Given the description of an element on the screen output the (x, y) to click on. 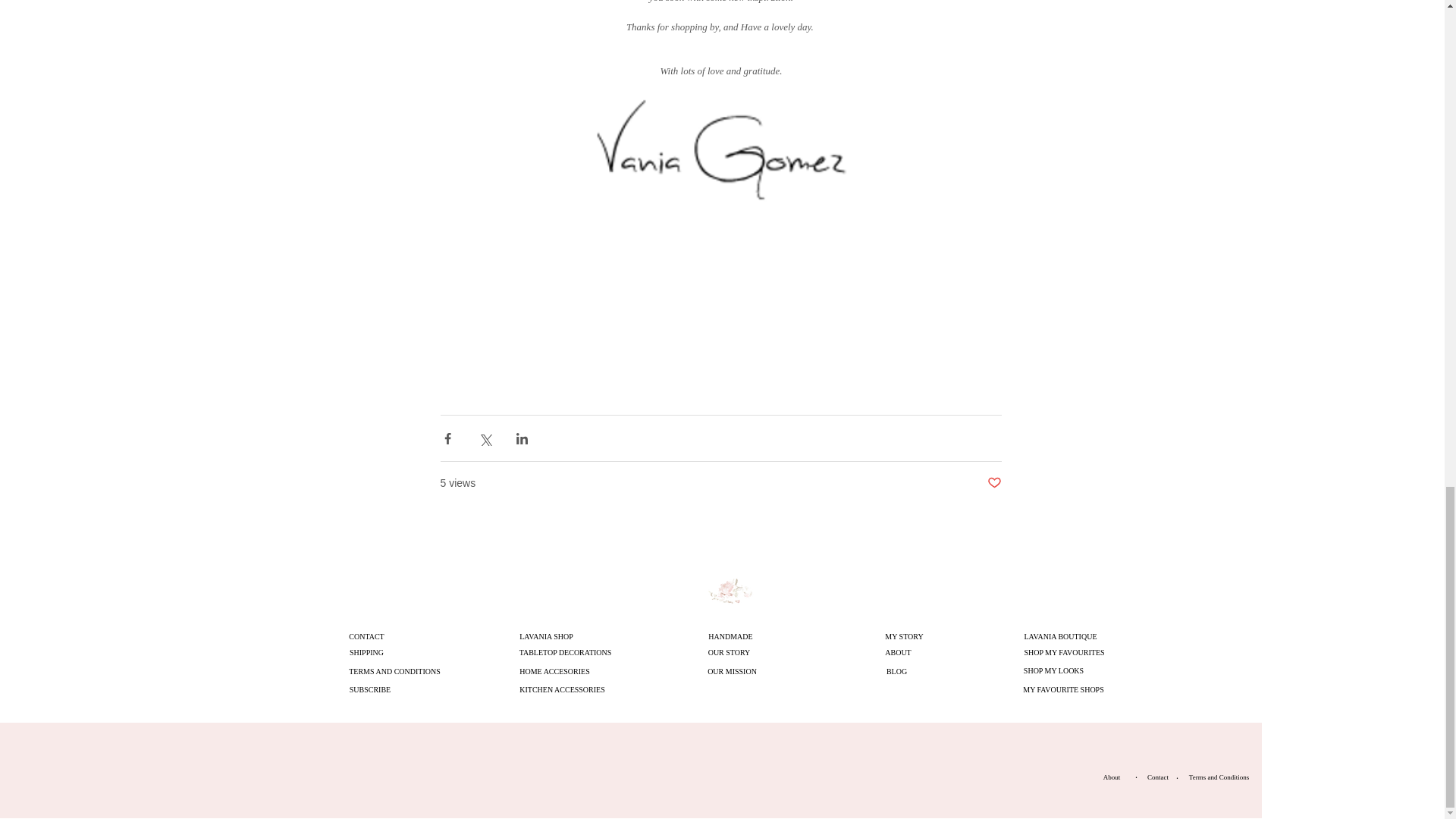
BLOG (896, 671)
KITCHEN ACCESSORIES (561, 689)
SHIPPING (366, 652)
HOME ACCESORIES (554, 671)
Post not marked as liked (994, 483)
TABLETOP DECORATIONS (564, 652)
SHOP MY LOOKS (1052, 670)
MY STORY (904, 636)
HANDMADE (730, 636)
OUR STORY (729, 652)
CONTACT (366, 636)
LAVANIA SHOP (546, 636)
LAVANIA BOUTIQUE (1061, 636)
SHOP MY FAVOURITES (1064, 652)
Contact (1157, 777)
